Given the description of an element on the screen output the (x, y) to click on. 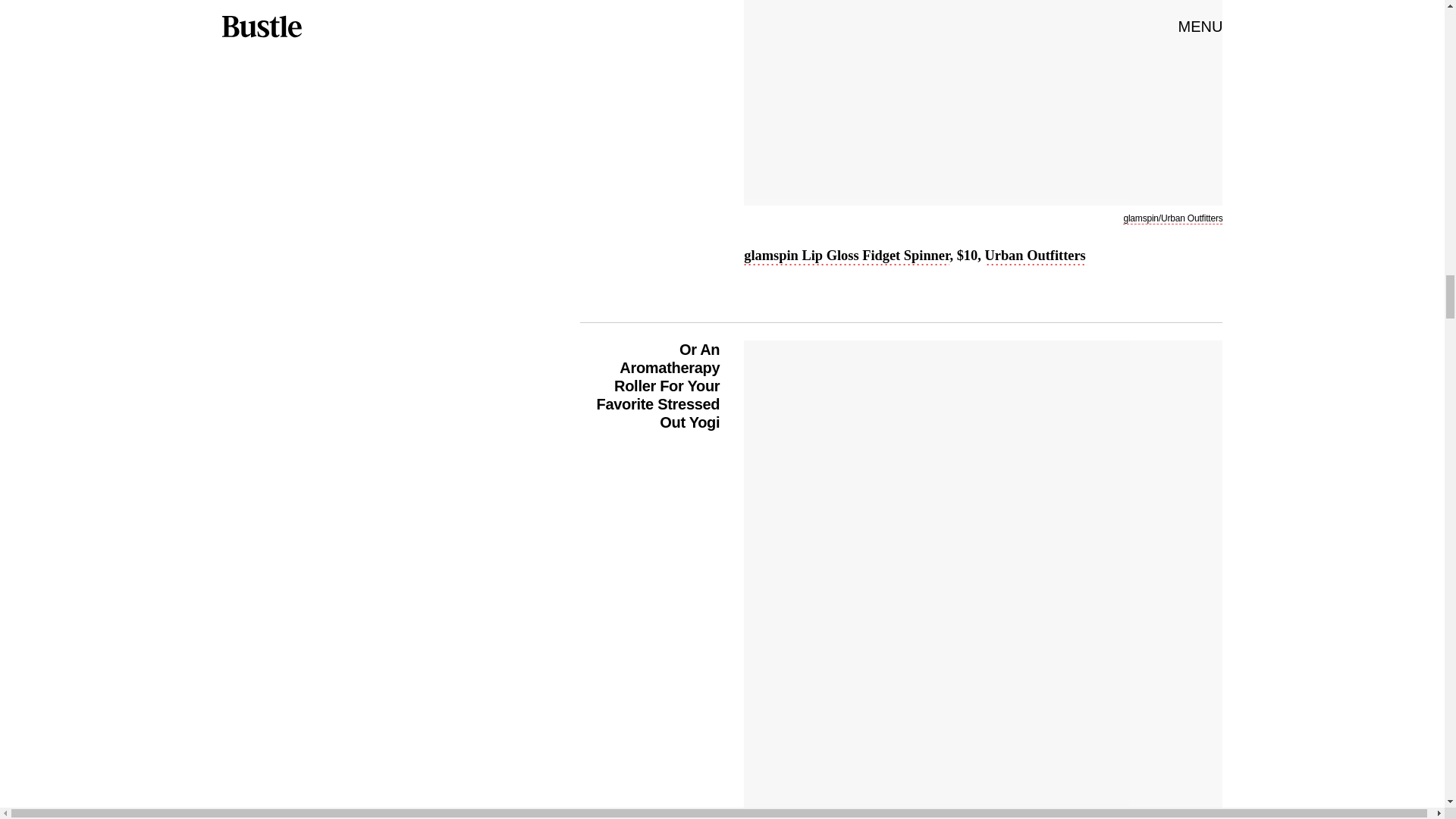
glamspin Lip Gloss Fidget Spinner (846, 257)
Urban Outfitters (1034, 257)
